Given the description of an element on the screen output the (x, y) to click on. 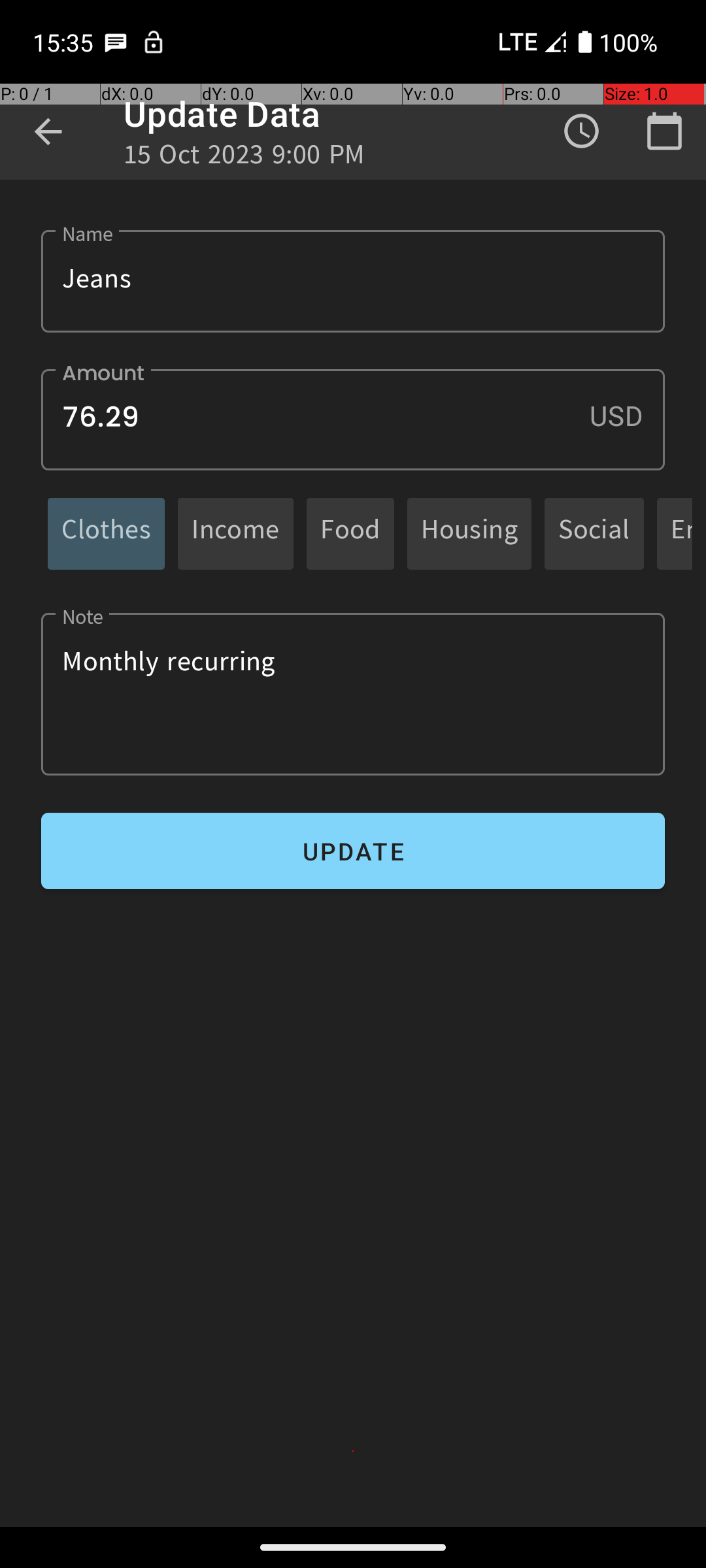
15 Oct 2023 9:00 PM Element type: android.widget.TextView (244, 157)
Jeans Element type: android.widget.EditText (352, 280)
76.29 Element type: android.widget.EditText (352, 419)
Clothes Element type: android.widget.TextView (106, 533)
